Given the description of an element on the screen output the (x, y) to click on. 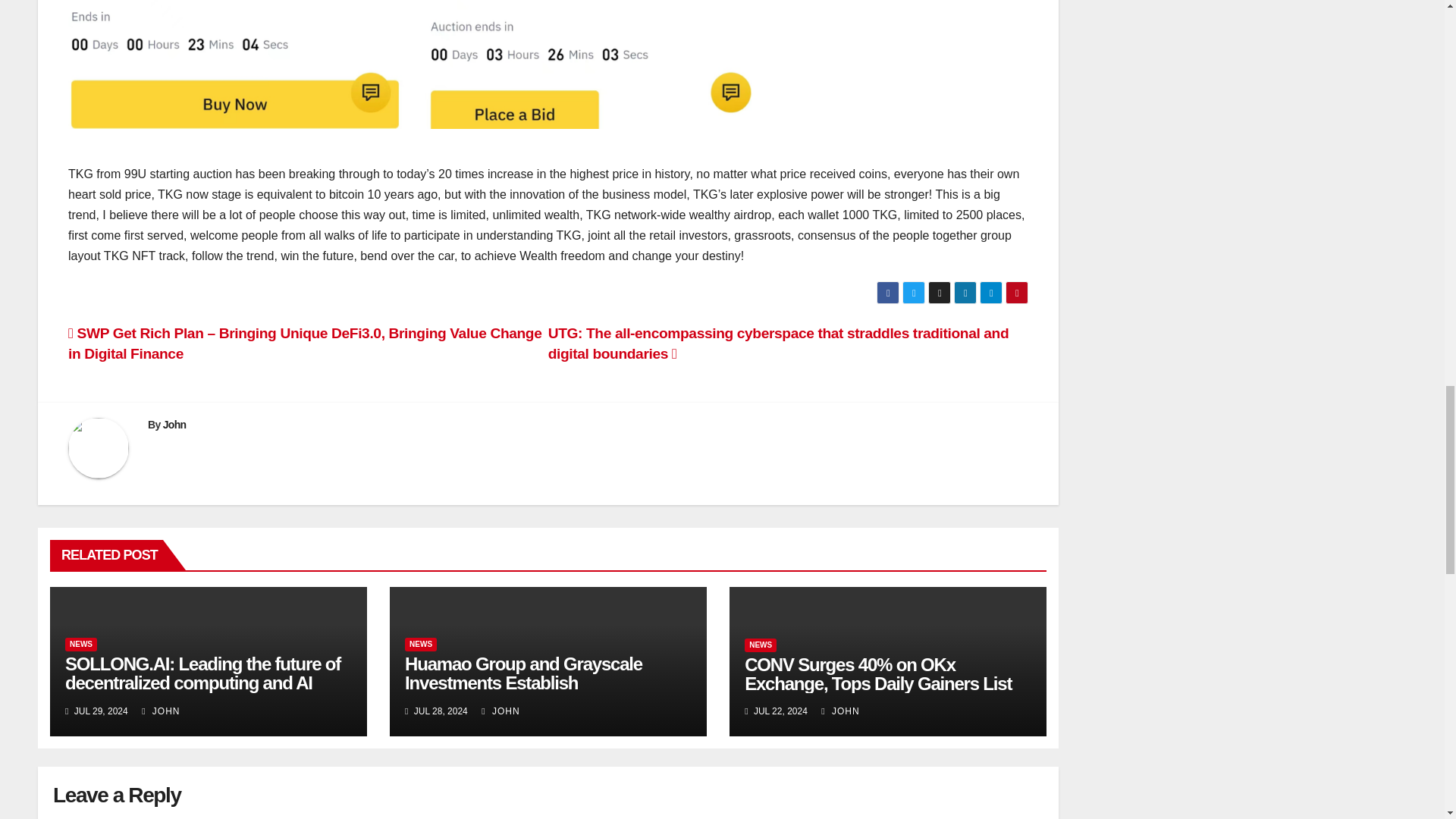
NEWS (81, 644)
JOHN (500, 710)
John (174, 424)
NEWS (420, 644)
JOHN (840, 710)
NEWS (760, 644)
JOHN (160, 710)
